Given the description of an element on the screen output the (x, y) to click on. 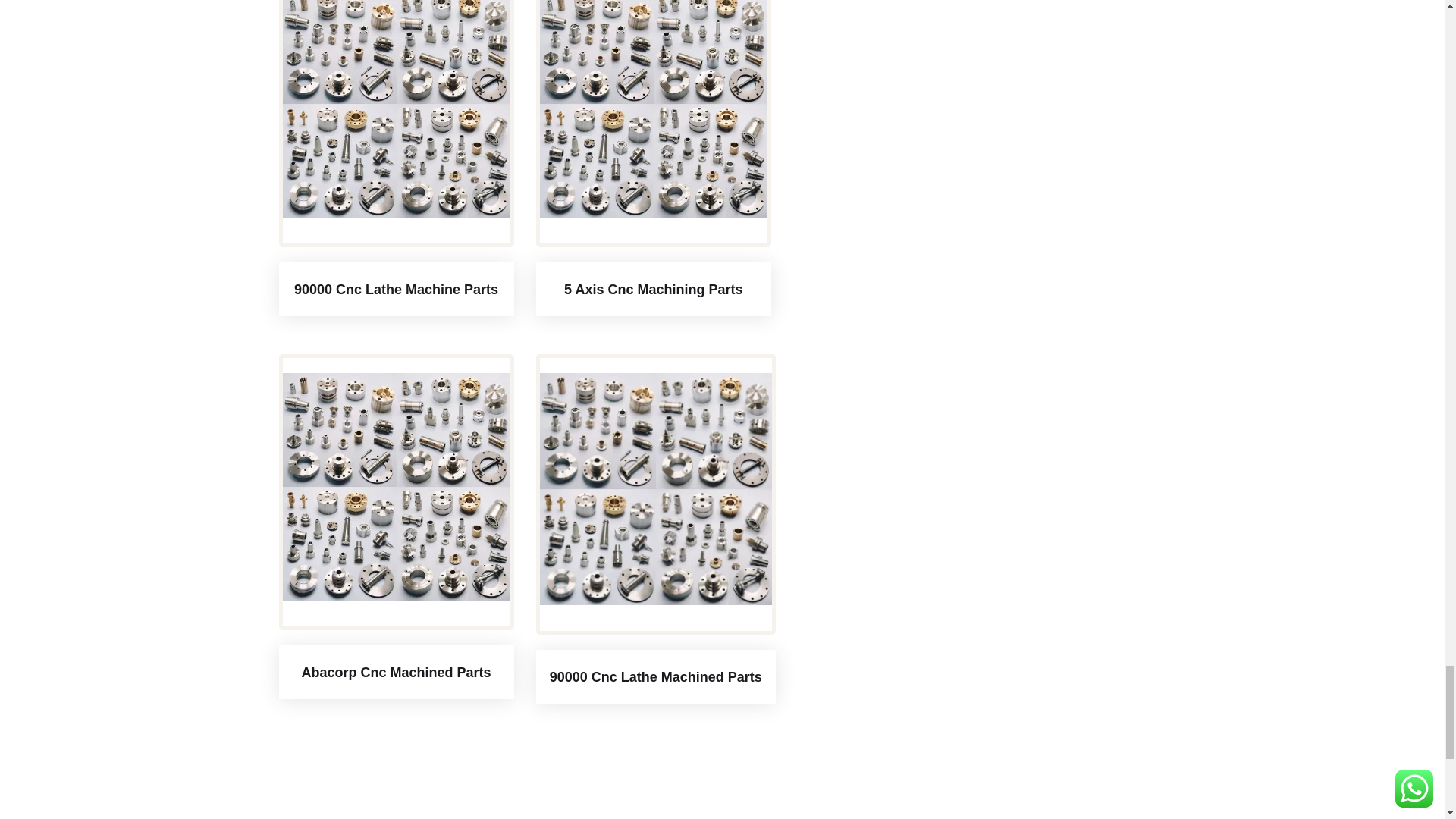
abacorp cnc machined parts (395, 486)
90000 cnc lathe machined parts (655, 489)
90000 cnc lathe machine parts (395, 108)
5 axis cnc machining parts (653, 108)
